Given the description of an element on the screen output the (x, y) to click on. 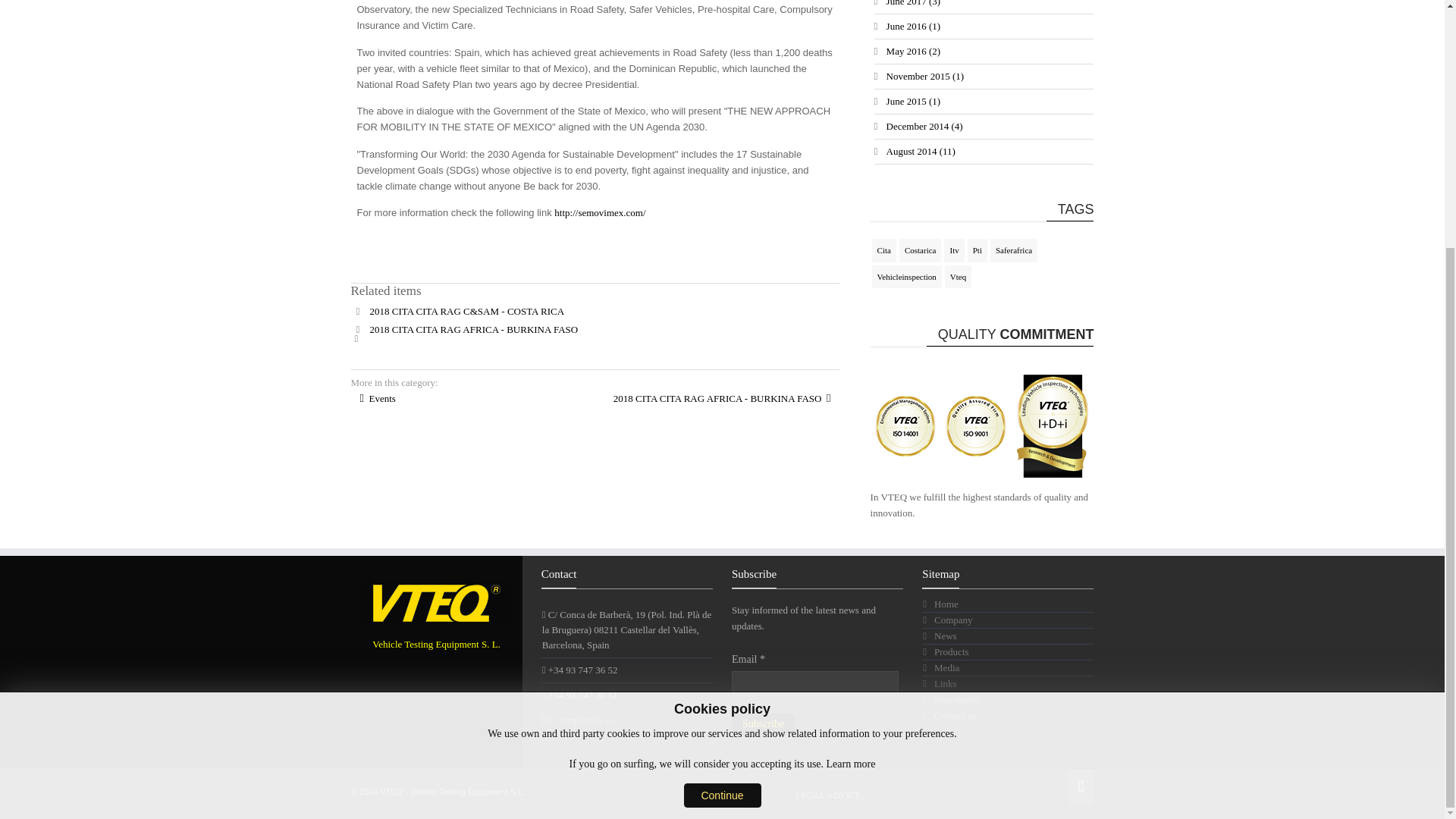
1 items tagged with costarica (920, 250)
2 items tagged with saferafrica (1013, 250)
3 items tagged with vteq (957, 277)
3 items tagged with vehicleinspection (907, 277)
3 items tagged with cita (884, 250)
